Given the description of an element on the screen output the (x, y) to click on. 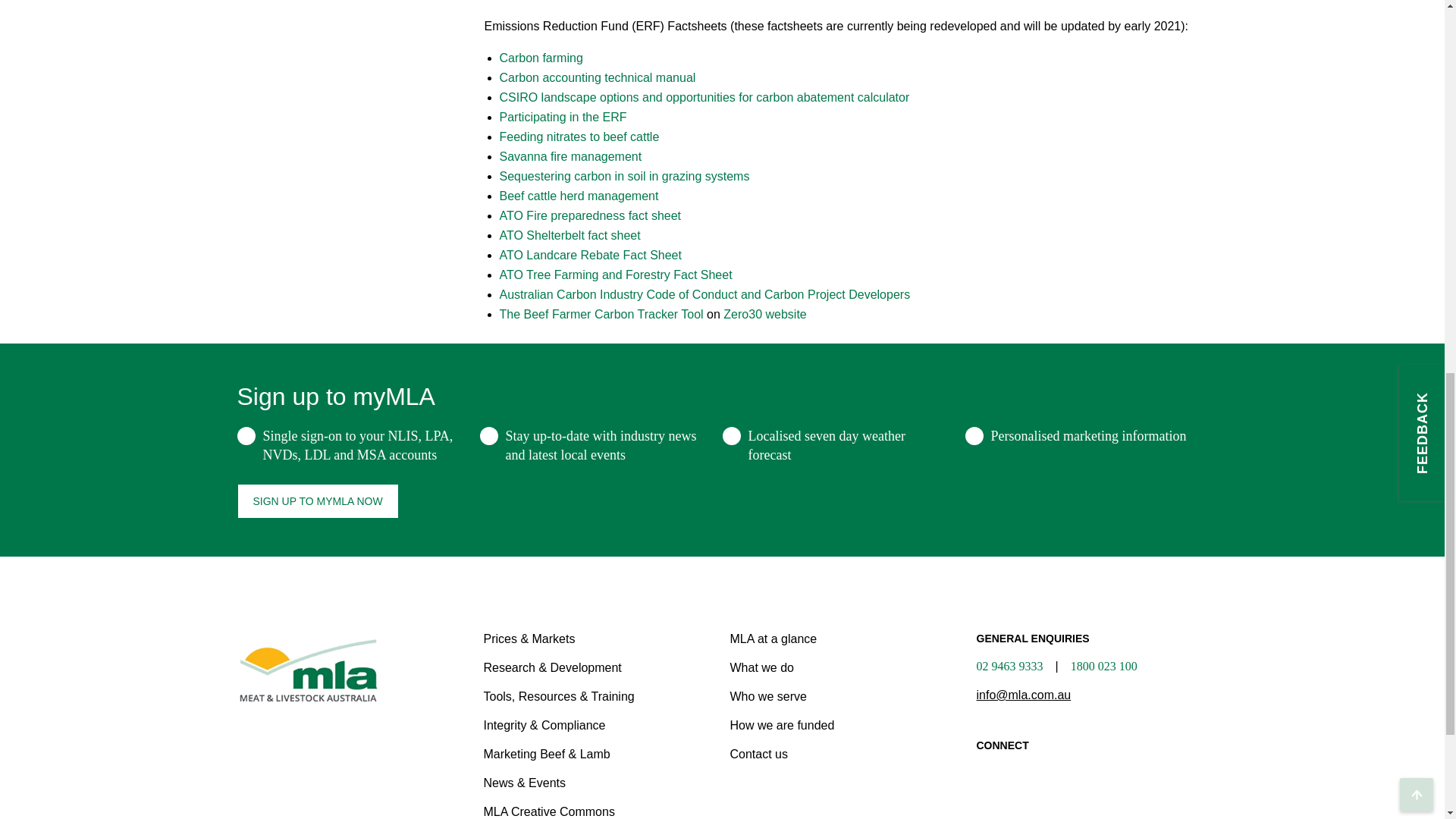
CONNECT (1092, 760)
